Given the description of an element on the screen output the (x, y) to click on. 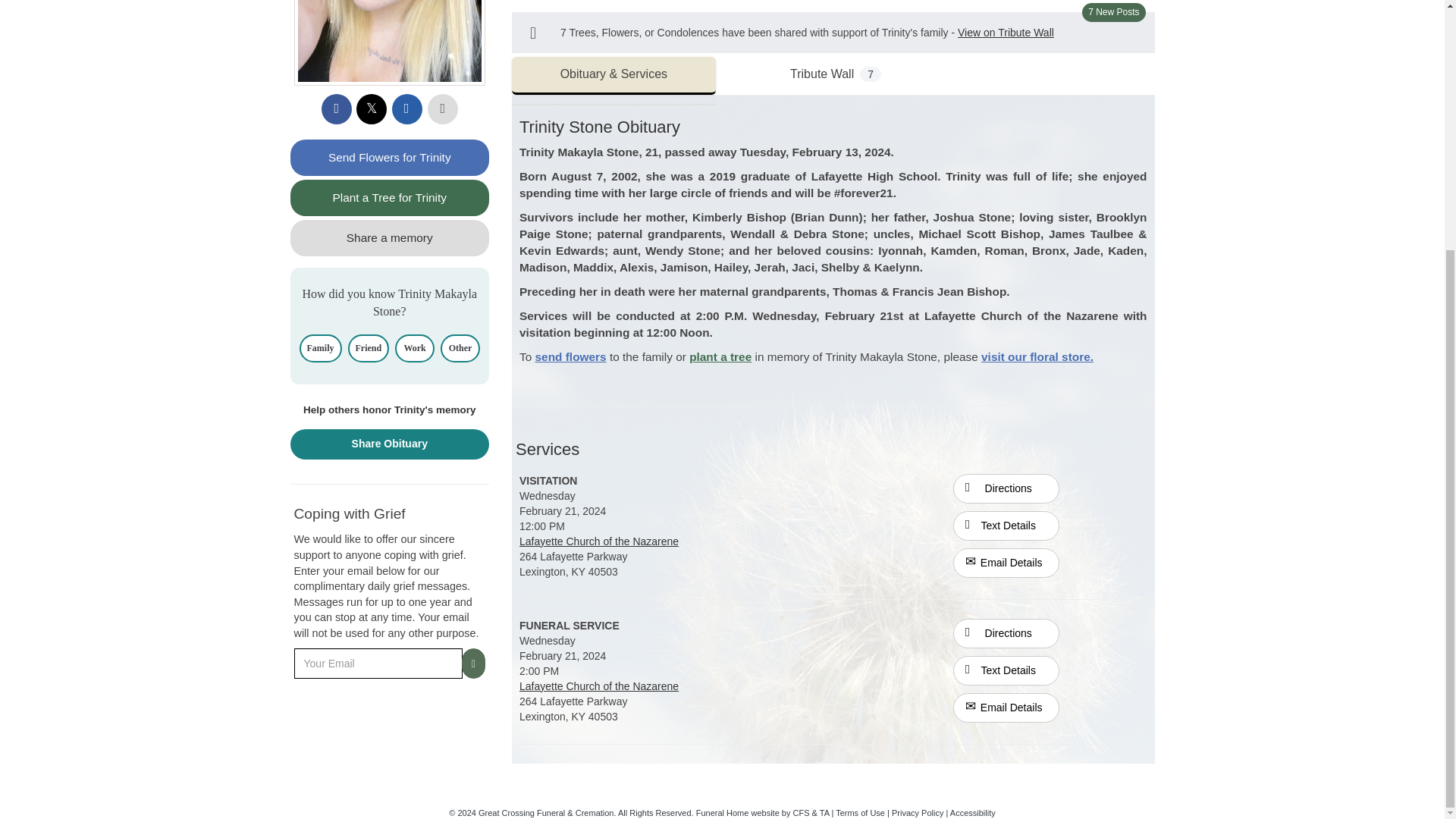
CFS (800, 812)
Text Details (1006, 525)
View on Tribute Wall (1006, 32)
Directions (1006, 488)
plant a tree (719, 356)
Lafayette Church of the Nazarene (598, 541)
Share to Facebook (336, 109)
Printable copy (443, 109)
TA (824, 812)
Share via email (406, 109)
